Given the description of an element on the screen output the (x, y) to click on. 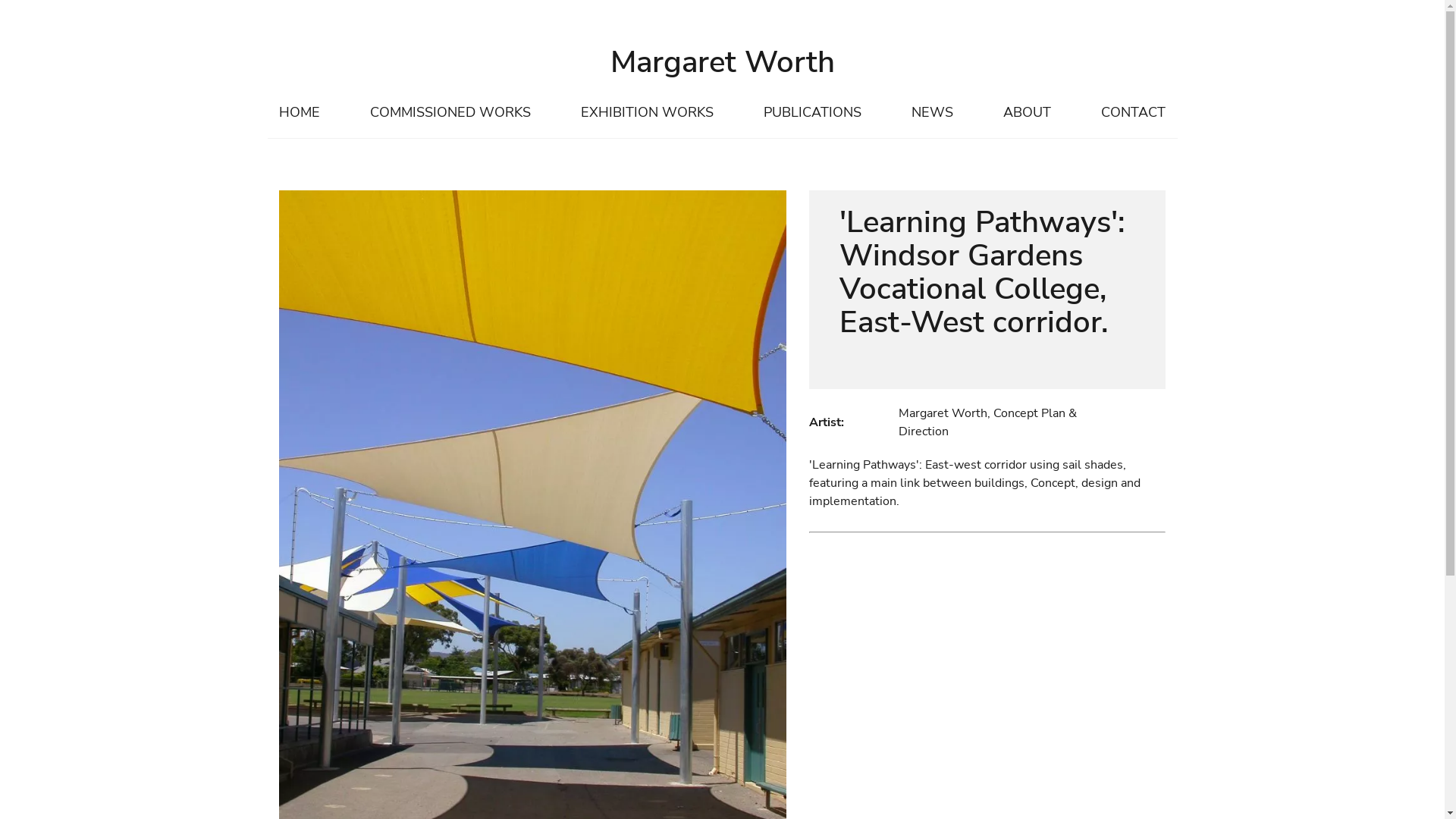
NEWS Element type: text (932, 112)
EXHIBITION WORKS Element type: text (646, 112)
COMMISSIONED WORKS Element type: text (450, 112)
ABOUT Element type: text (1026, 112)
HOME Element type: text (298, 112)
Margaret Worth Element type: text (721, 61)
CONTACT Element type: text (1132, 112)
PUBLICATIONS Element type: text (812, 112)
